Given the description of an element on the screen output the (x, y) to click on. 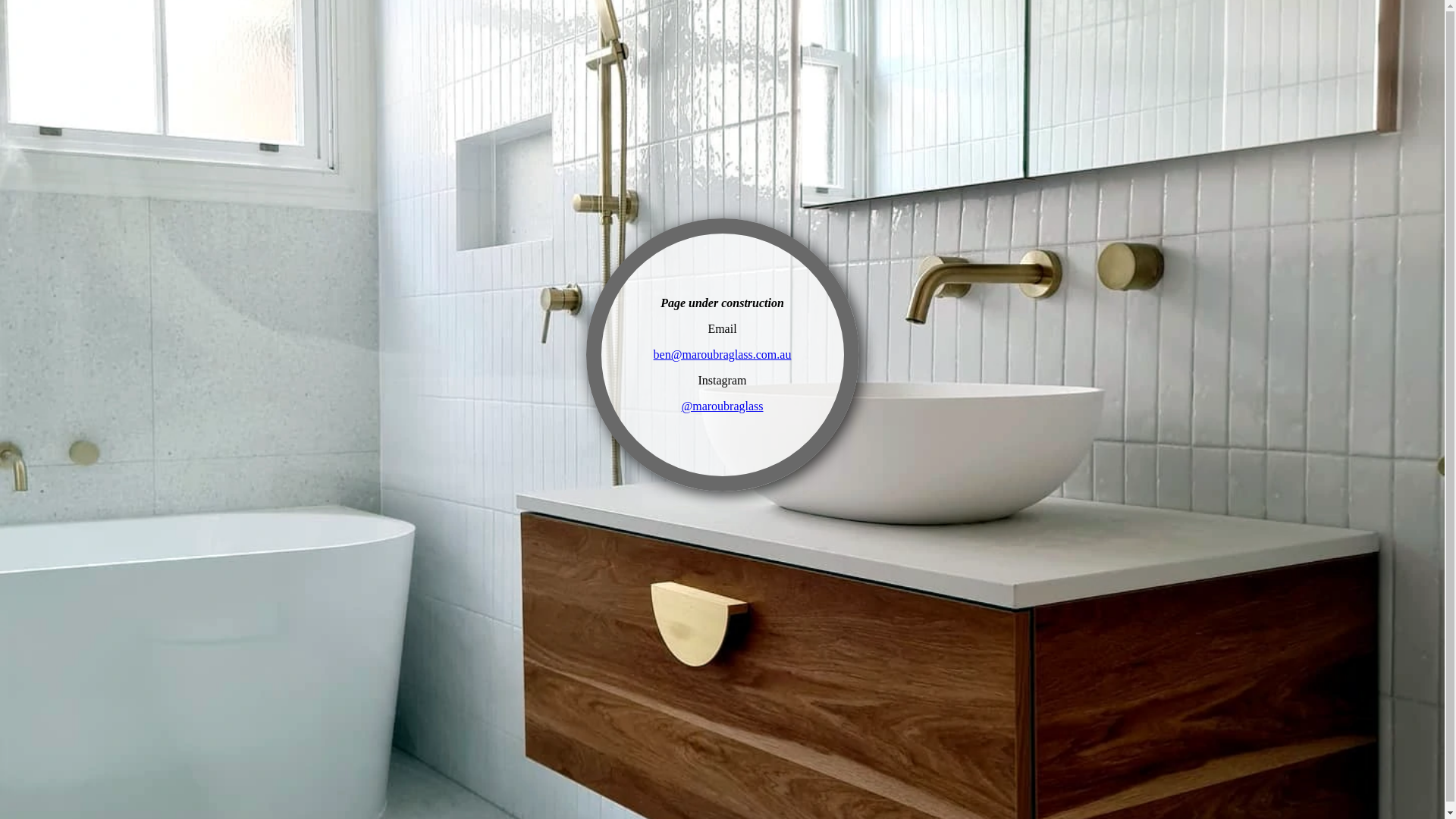
@maroubraglass Element type: text (721, 405)
ben@maroubraglass.com.au Element type: text (722, 354)
